Given the description of an element on the screen output the (x, y) to click on. 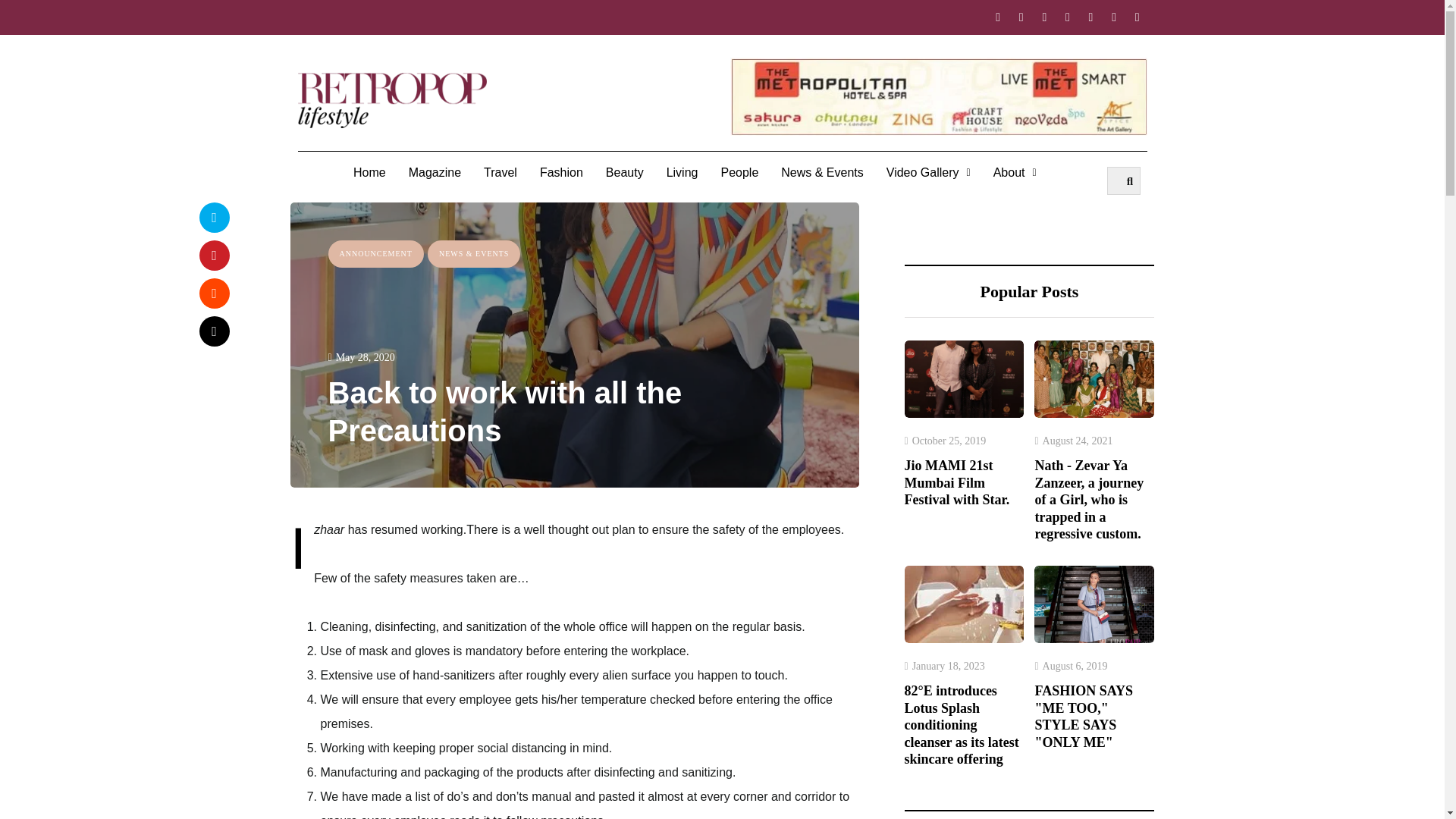
Tweet this (213, 216)
Magazine (434, 173)
Living (682, 173)
Travel (499, 173)
Video Gallery (928, 173)
Share by Email (213, 330)
People (739, 173)
Beauty (624, 173)
About (1014, 173)
Pin this (213, 254)
Home (369, 173)
Search (1123, 180)
ANNOUNCEMENT (375, 252)
Fashion (561, 173)
